Given the description of an element on the screen output the (x, y) to click on. 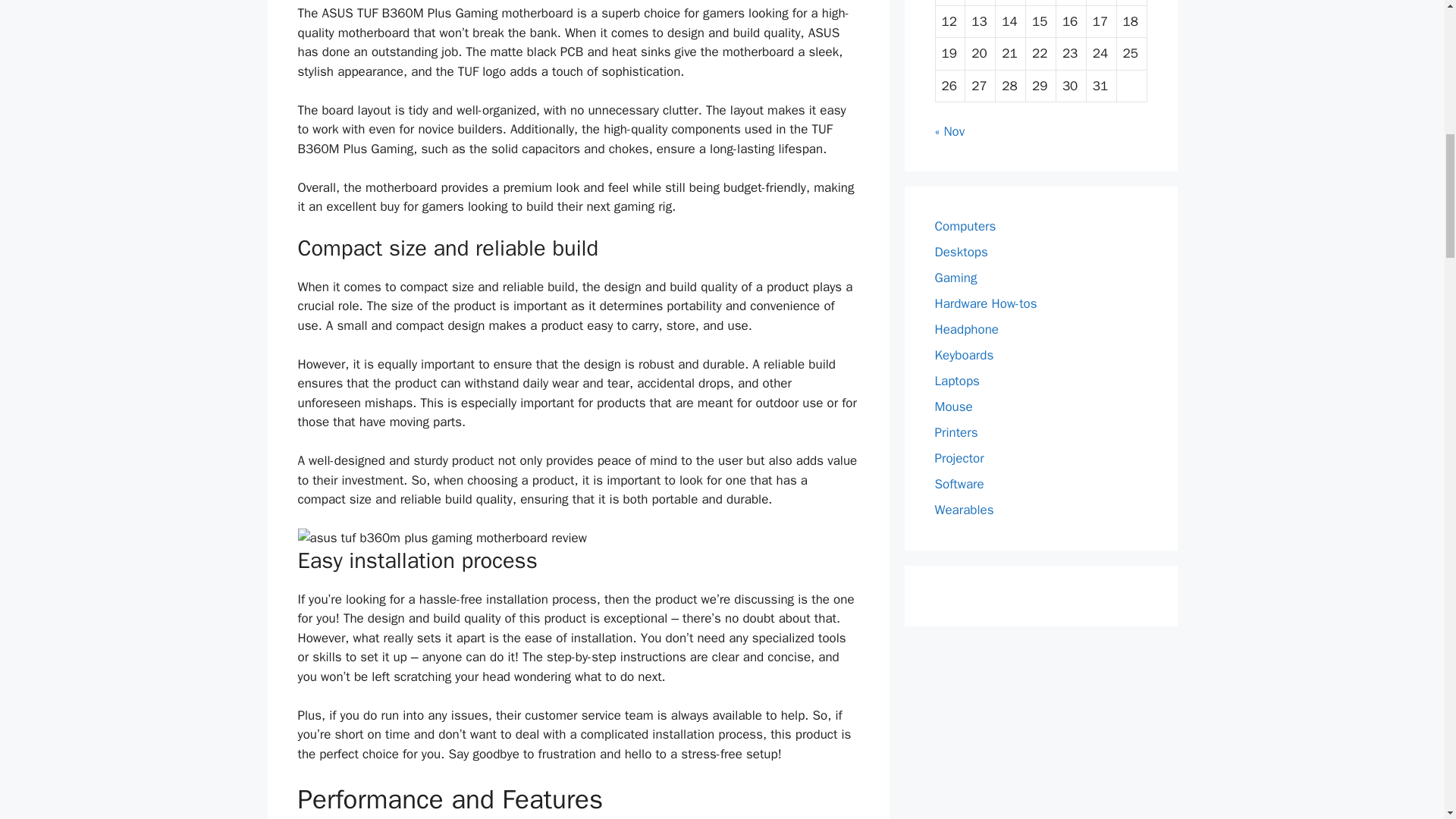
Projector (959, 458)
Desktops (960, 252)
Headphone (966, 329)
Software (959, 483)
Keyboards (963, 355)
Laptops (956, 381)
Mouse (953, 406)
Gaming (955, 277)
Printers (955, 432)
Hardware How-tos (985, 303)
